Given the description of an element on the screen output the (x, y) to click on. 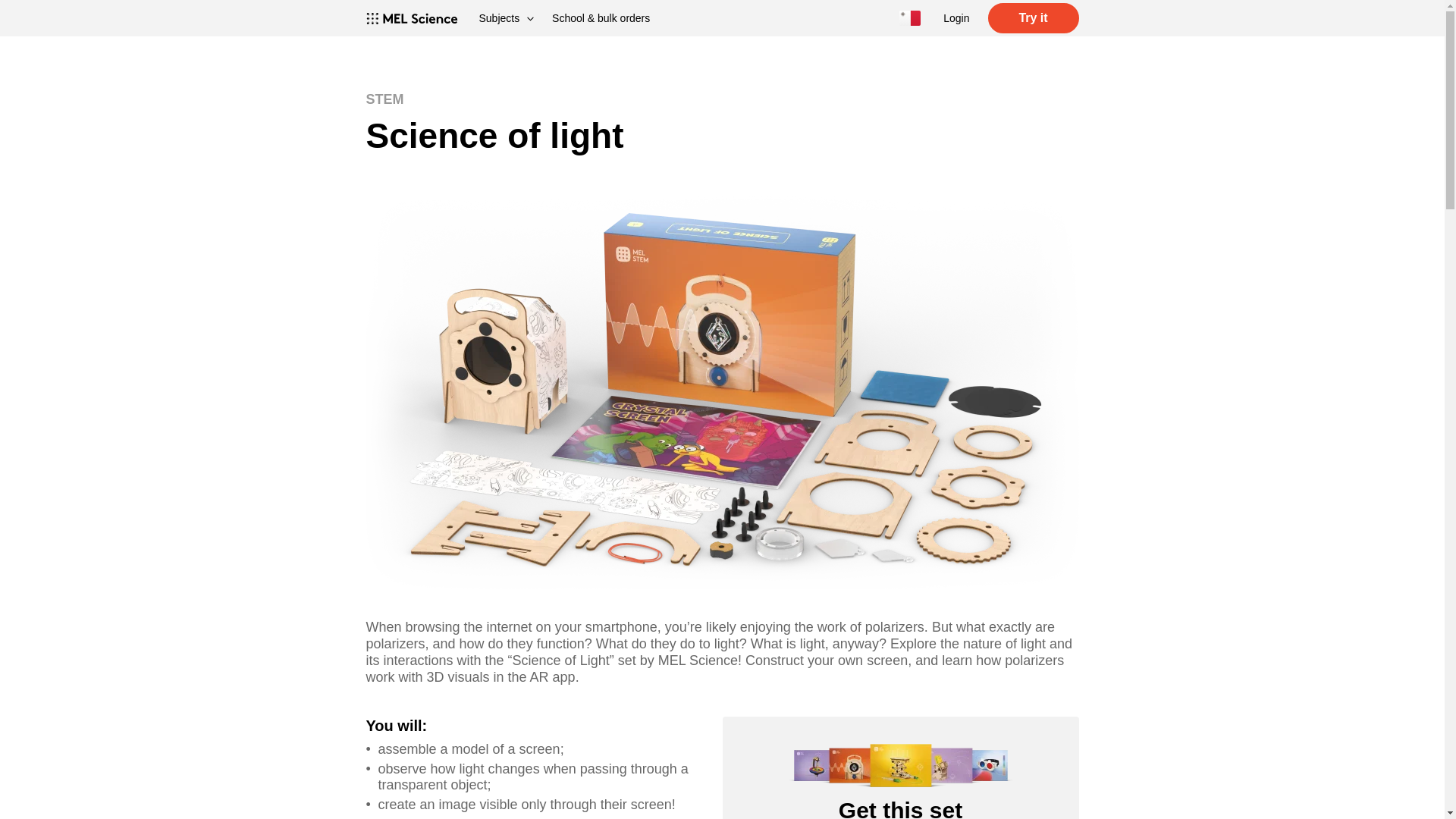
Change country (909, 18)
Subjects (506, 18)
Try it (1032, 18)
Login (956, 18)
